Given the description of an element on the screen output the (x, y) to click on. 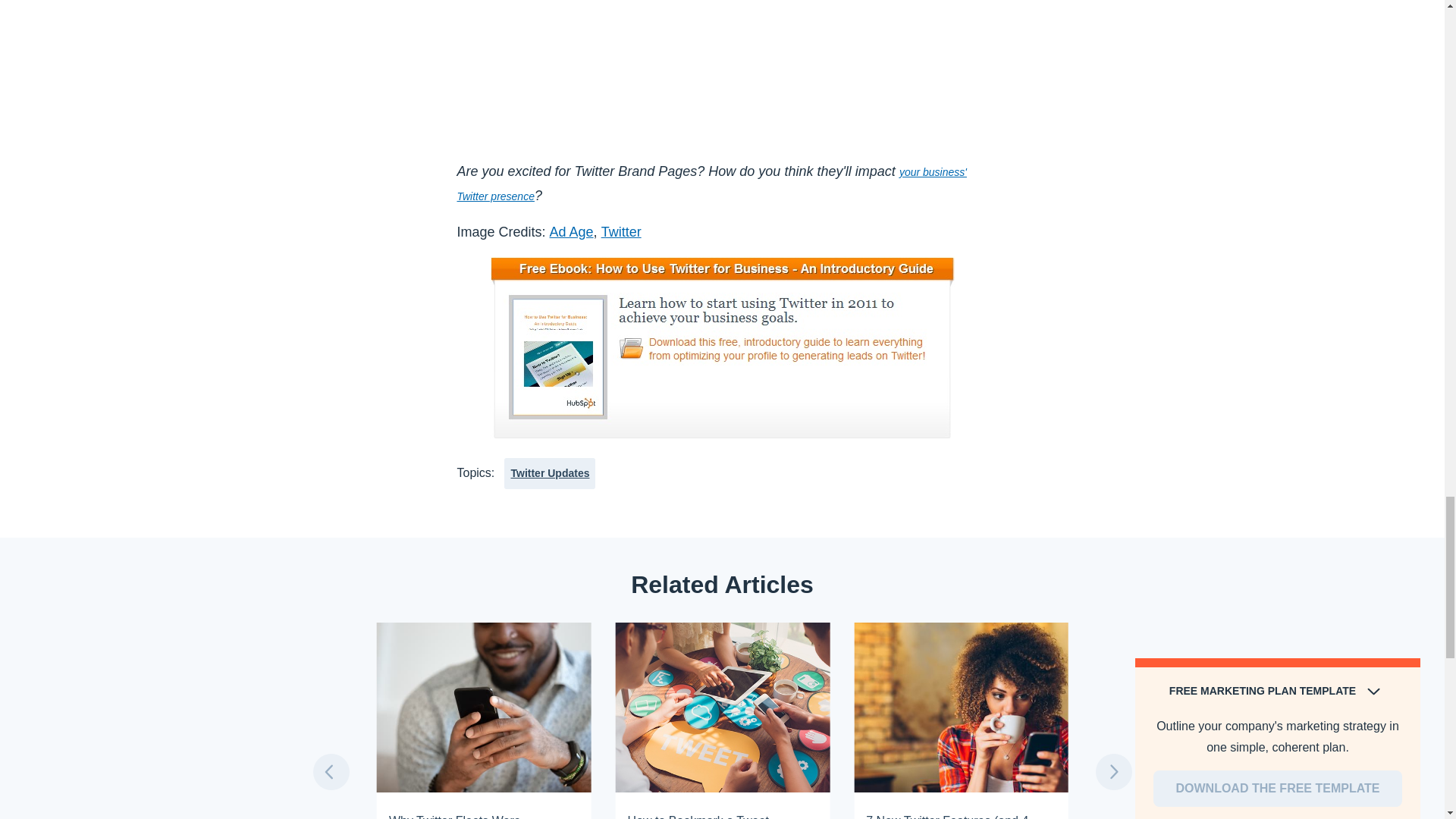
Ad Age (572, 231)
your business' Twitter presence (711, 184)
Twitter (621, 231)
